Given the description of an element on the screen output the (x, y) to click on. 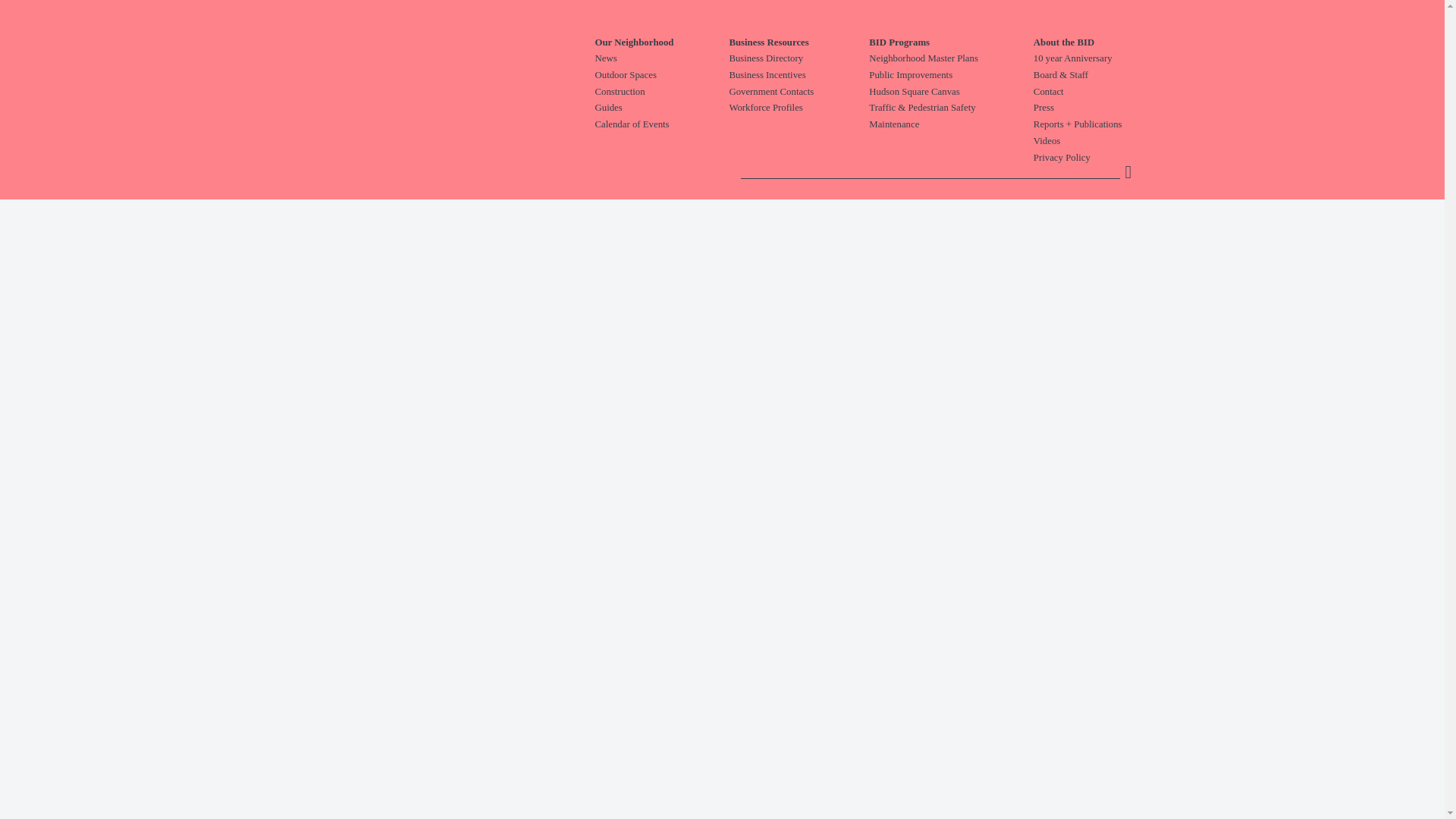
Workforce Profiles (799, 108)
10 year Anniversary (1105, 59)
Business Directory (799, 59)
Maintenance (951, 124)
Neighborhood Master Plans (951, 59)
Our Neighborhood (661, 42)
Business Resources (799, 42)
Press (1105, 108)
Business Incentives (799, 75)
Videos (1105, 141)
